Given the description of an element on the screen output the (x, y) to click on. 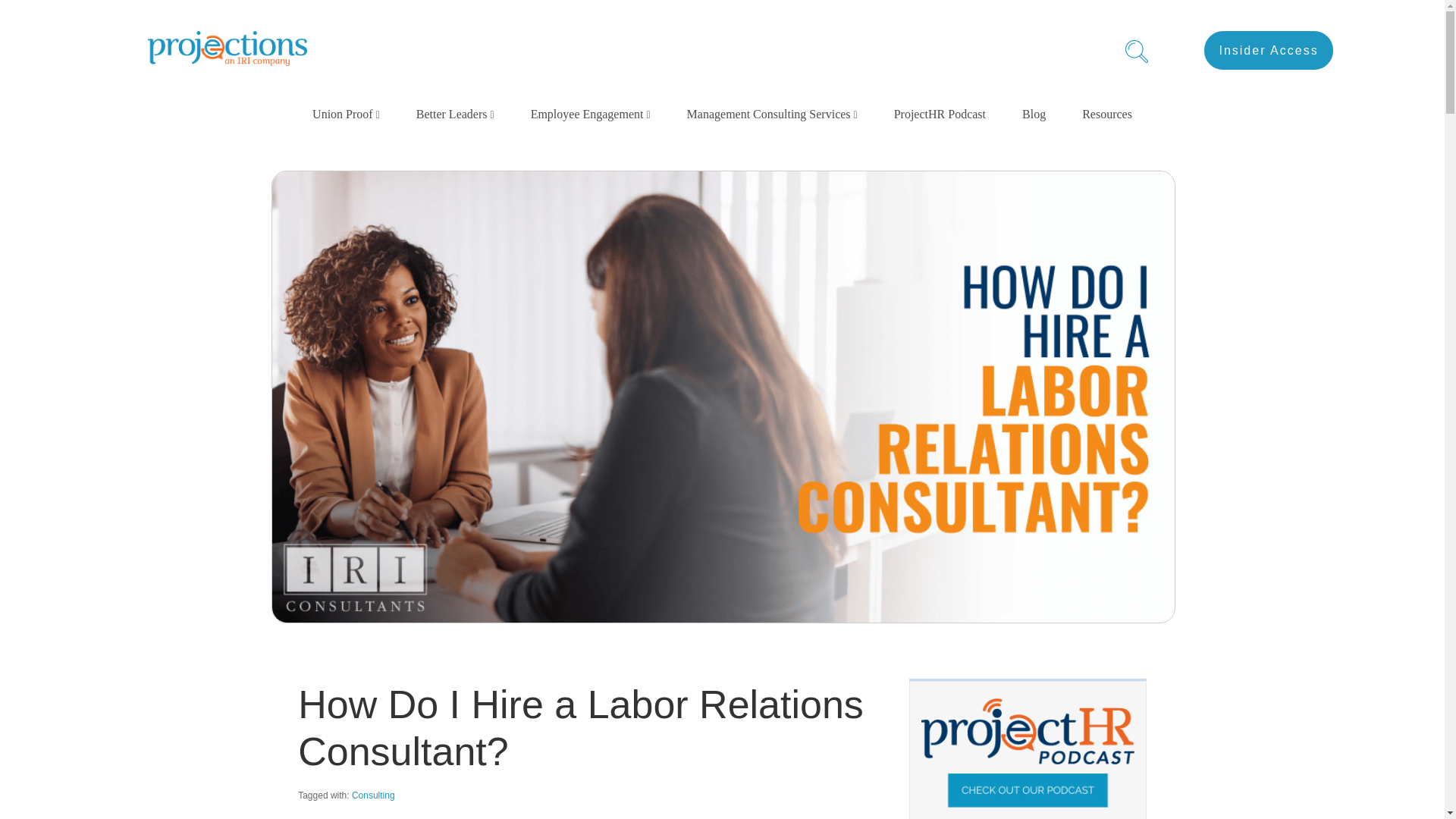
Better Leaders (455, 114)
Insider Access (1268, 50)
Employee Engagement (590, 114)
Union Proof (345, 114)
